Given the description of an element on the screen output the (x, y) to click on. 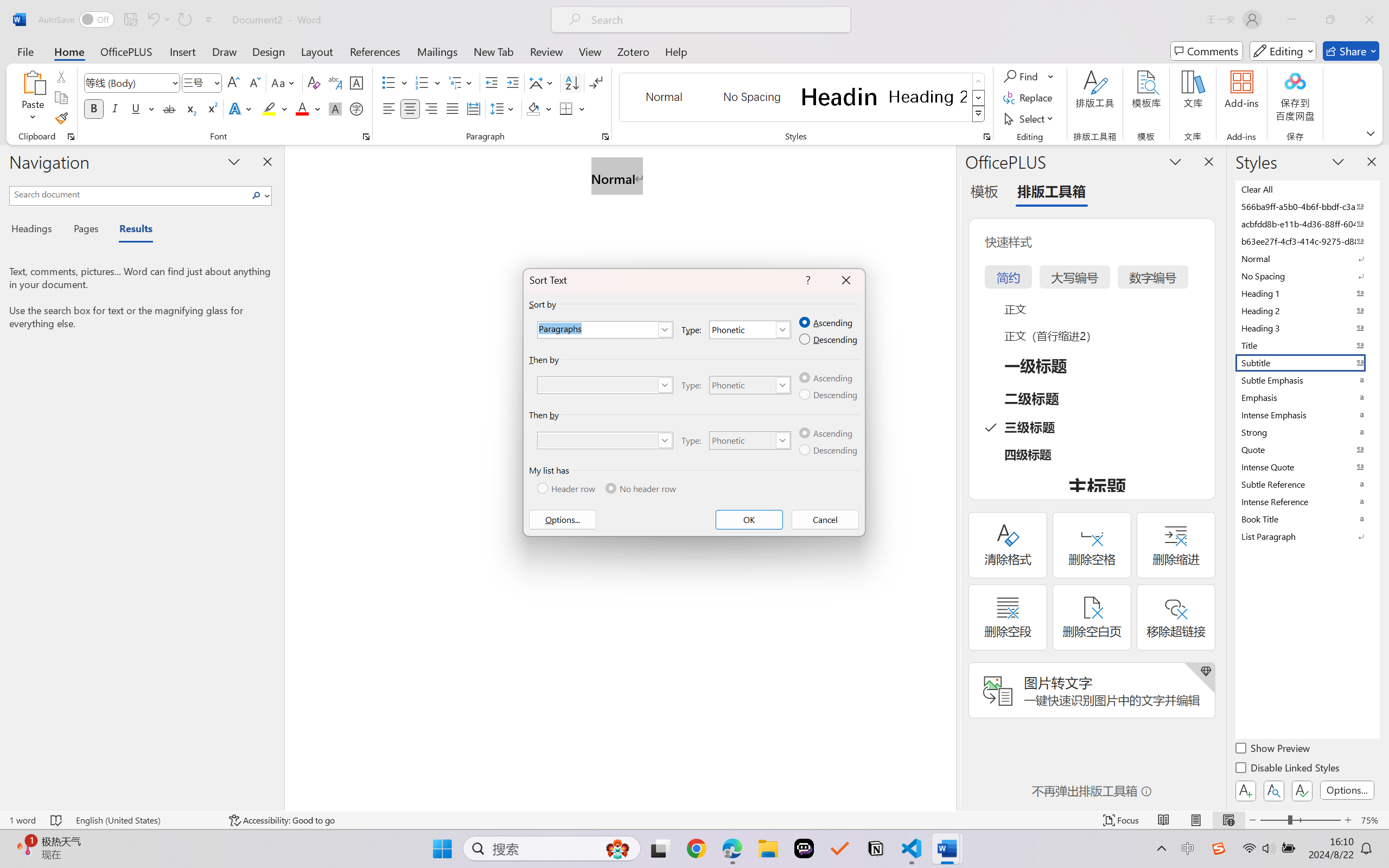
Subtitle (1306, 362)
Layout (316, 51)
Emphasis (1306, 397)
Cut (60, 75)
File Tab (24, 51)
Results (130, 229)
AutomationID: BadgeAnchorLargeTicker (24, 847)
Search (256, 195)
Decrease Indent (491, 82)
